Given the description of an element on the screen output the (x, y) to click on. 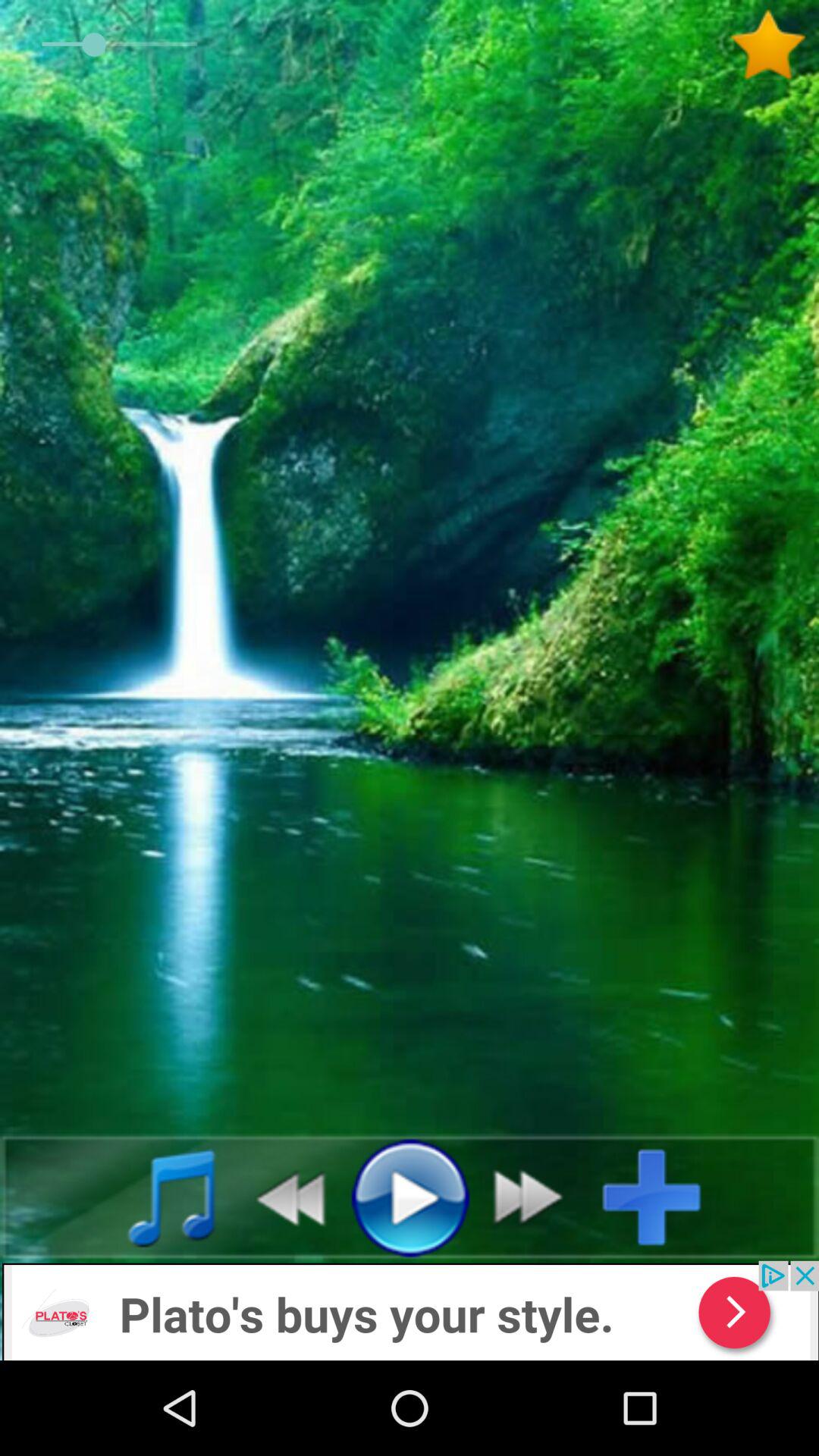
play option (409, 1196)
